Given the description of an element on the screen output the (x, y) to click on. 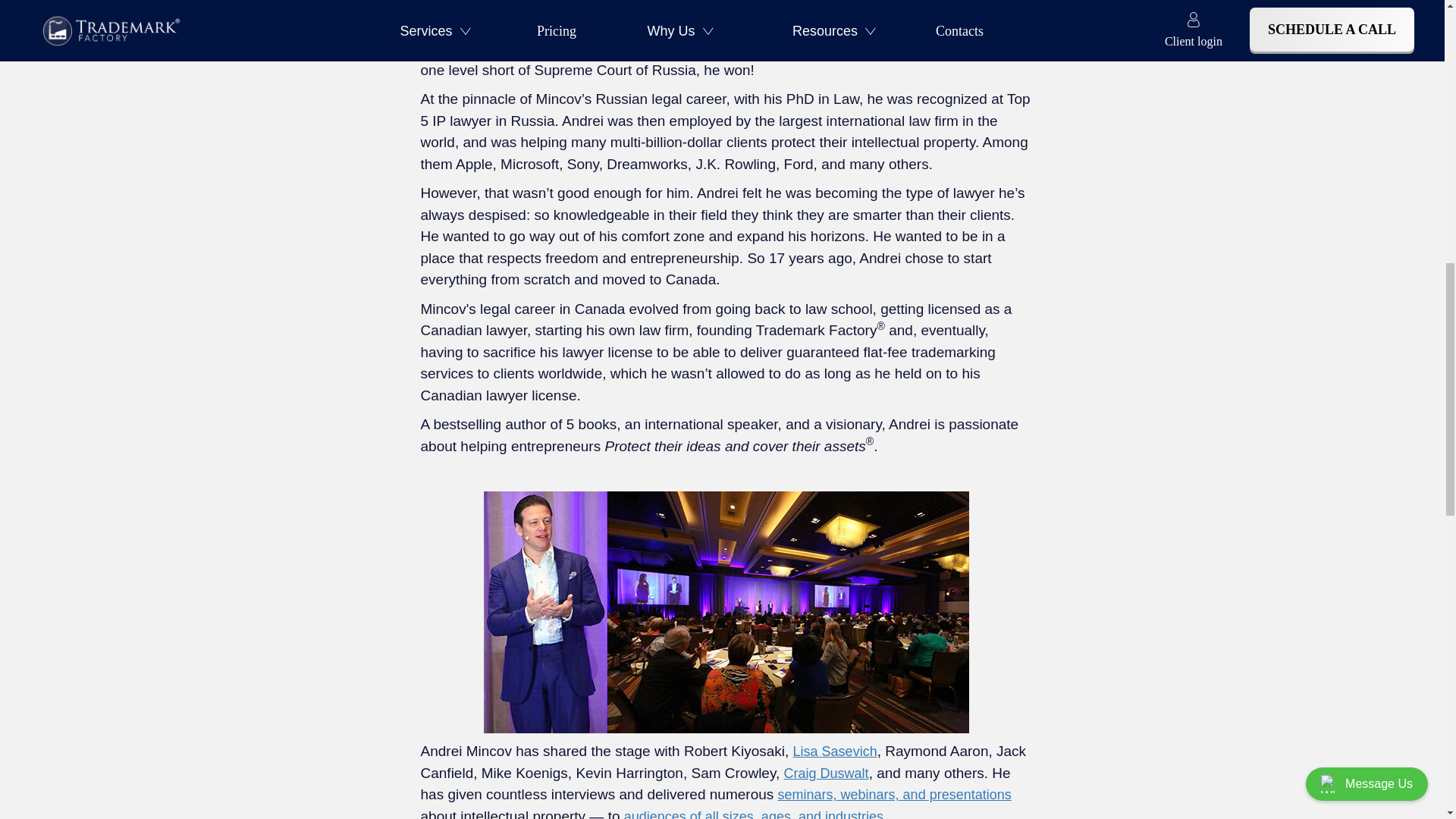
audiences of all sizes, ages, and industries (753, 813)
Craig Duswalt (826, 773)
seminars, webinars, and presentations (894, 794)
Lisa Sasevich (835, 751)
